Given the description of an element on the screen output the (x, y) to click on. 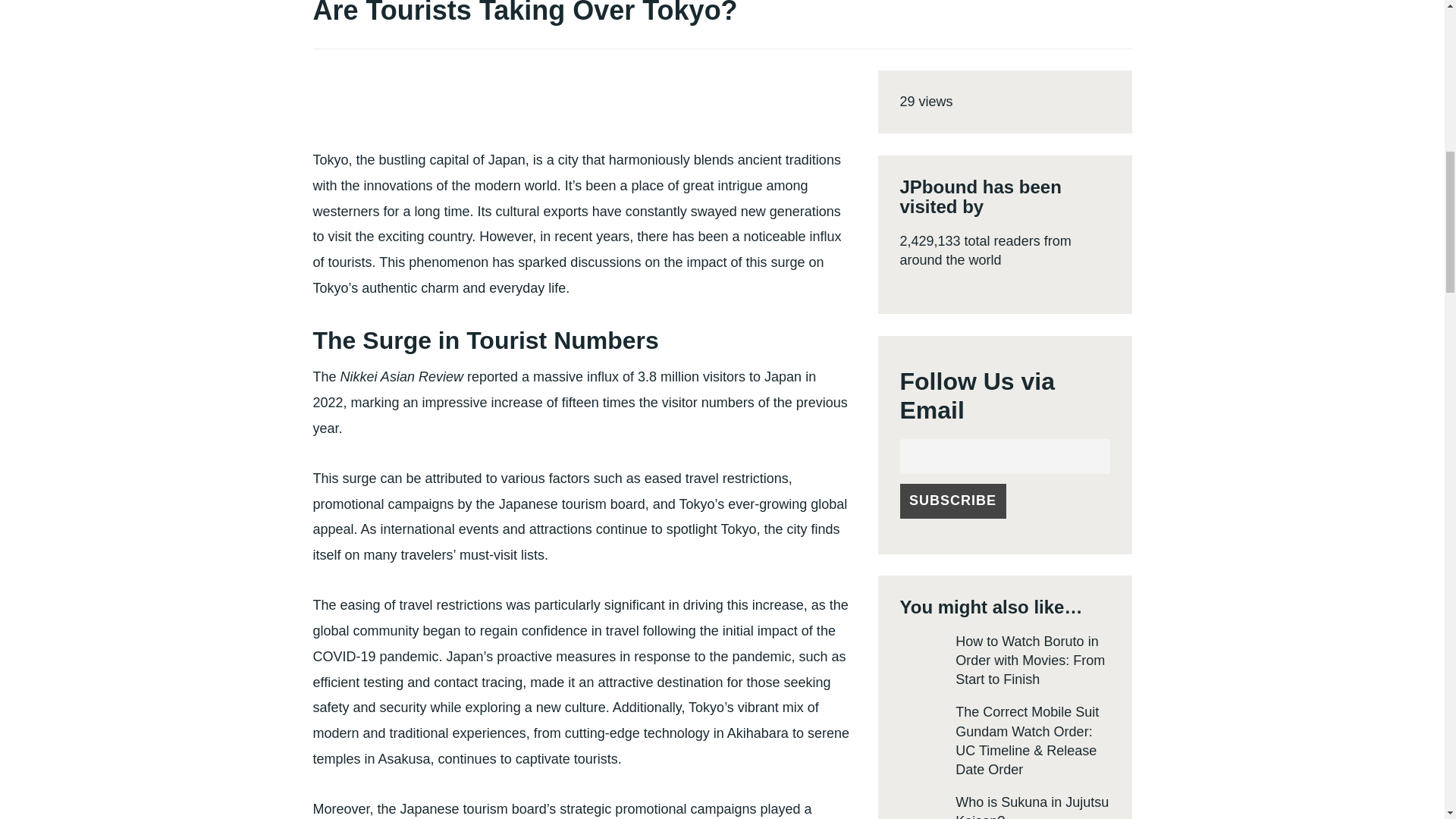
Who is Sukuna in Jujutsu Kaisen? (1031, 806)
SUBSCRIBE (952, 501)
